Given the description of an element on the screen output the (x, y) to click on. 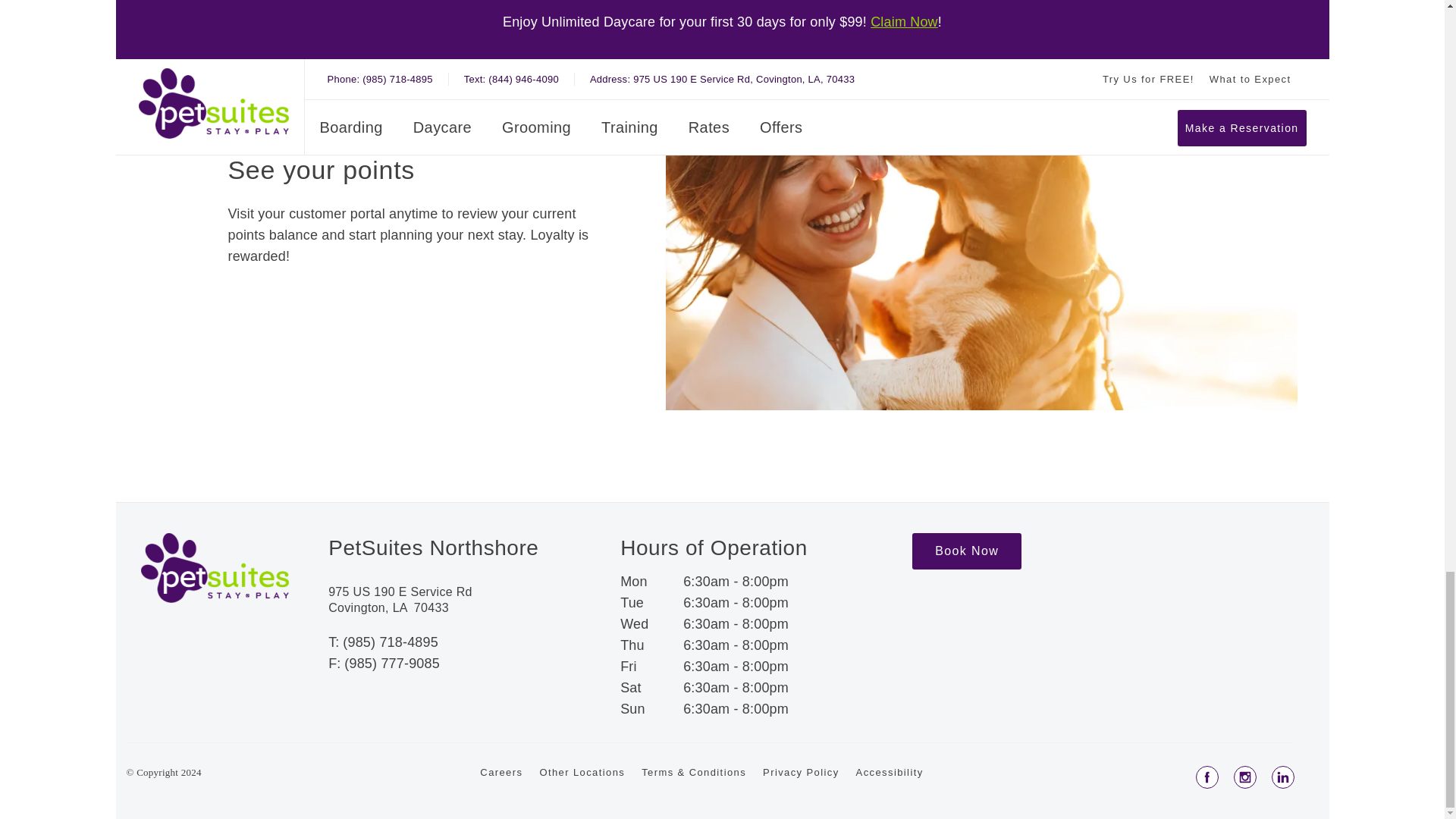
Accessibility (889, 802)
Careers (501, 802)
Other Locations (581, 802)
Book Now (967, 581)
Privacy Policy (801, 802)
